Given the description of an element on the screen output the (x, y) to click on. 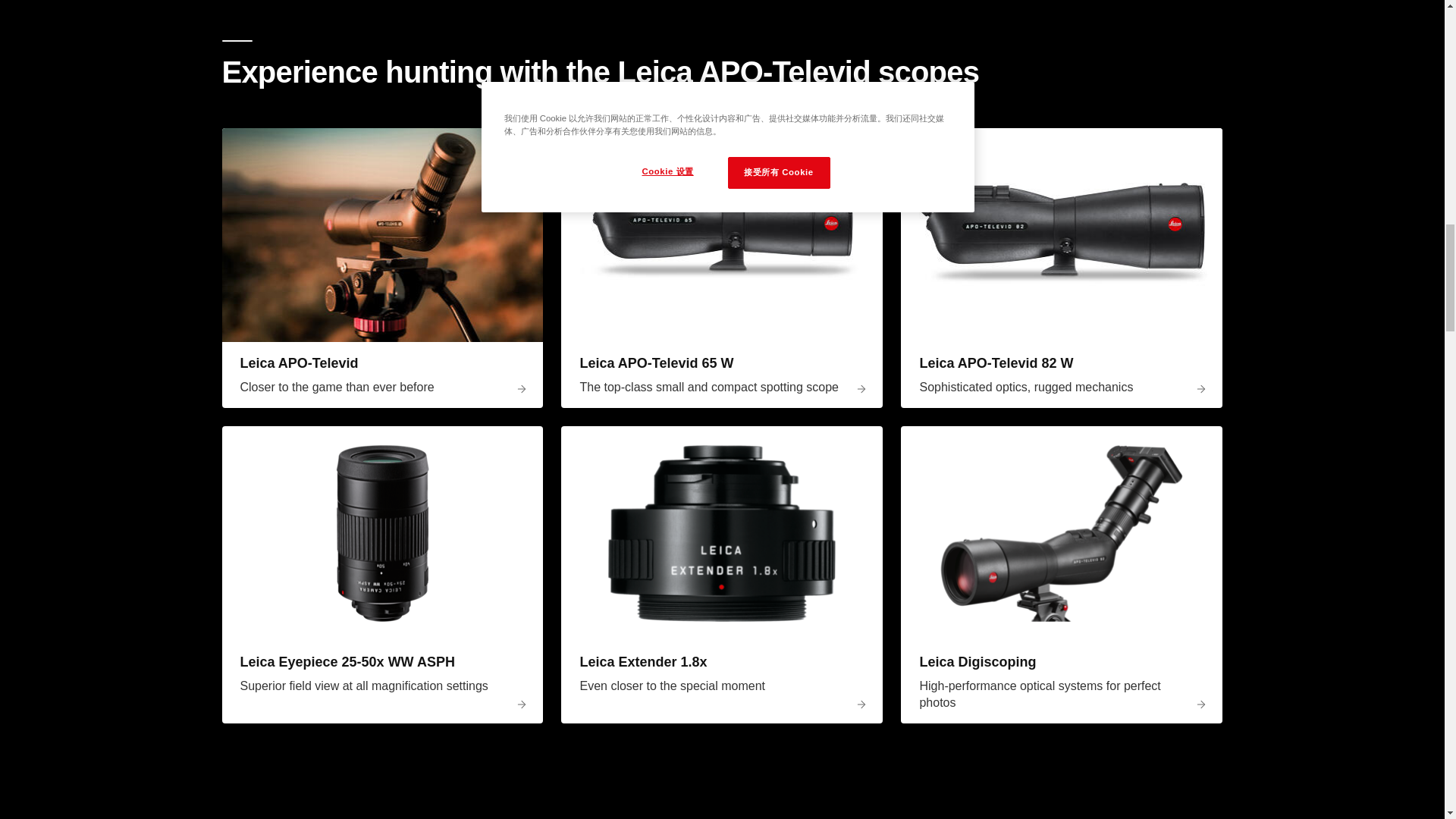
Leica Spotting Scopes (382, 235)
